Given the description of an element on the screen output the (x, y) to click on. 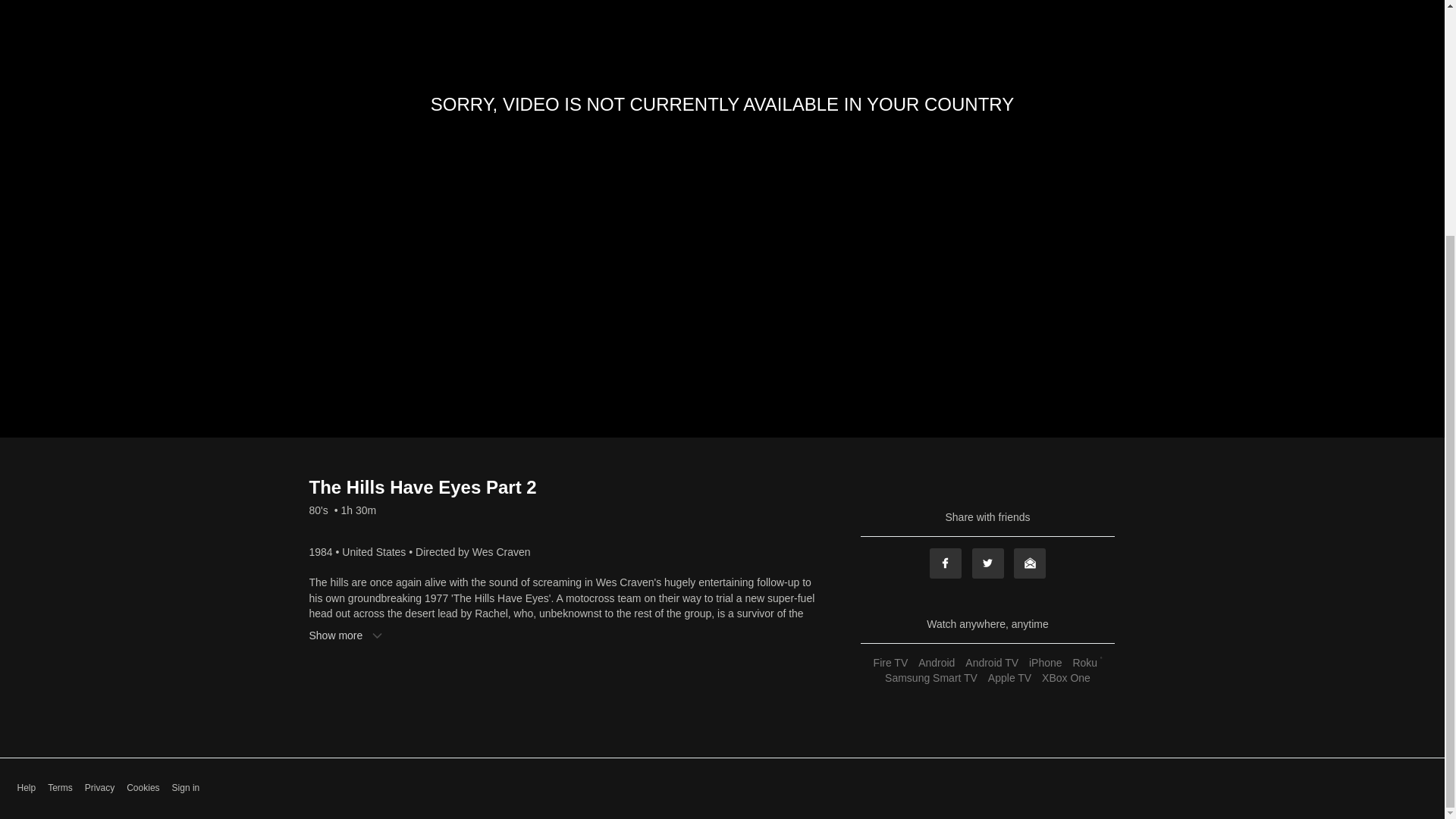
80's (318, 509)
Twitter (988, 562)
Privacy (99, 788)
Android TV (991, 662)
Help (25, 788)
XBox One (1066, 677)
Cookies (142, 788)
iPhone (1045, 662)
Android (936, 662)
Email (1029, 562)
Samsung Smart TV (930, 677)
Fire TV (890, 662)
Terms (60, 788)
Apple TV (1009, 677)
Facebook (945, 562)
